Given the description of an element on the screen output the (x, y) to click on. 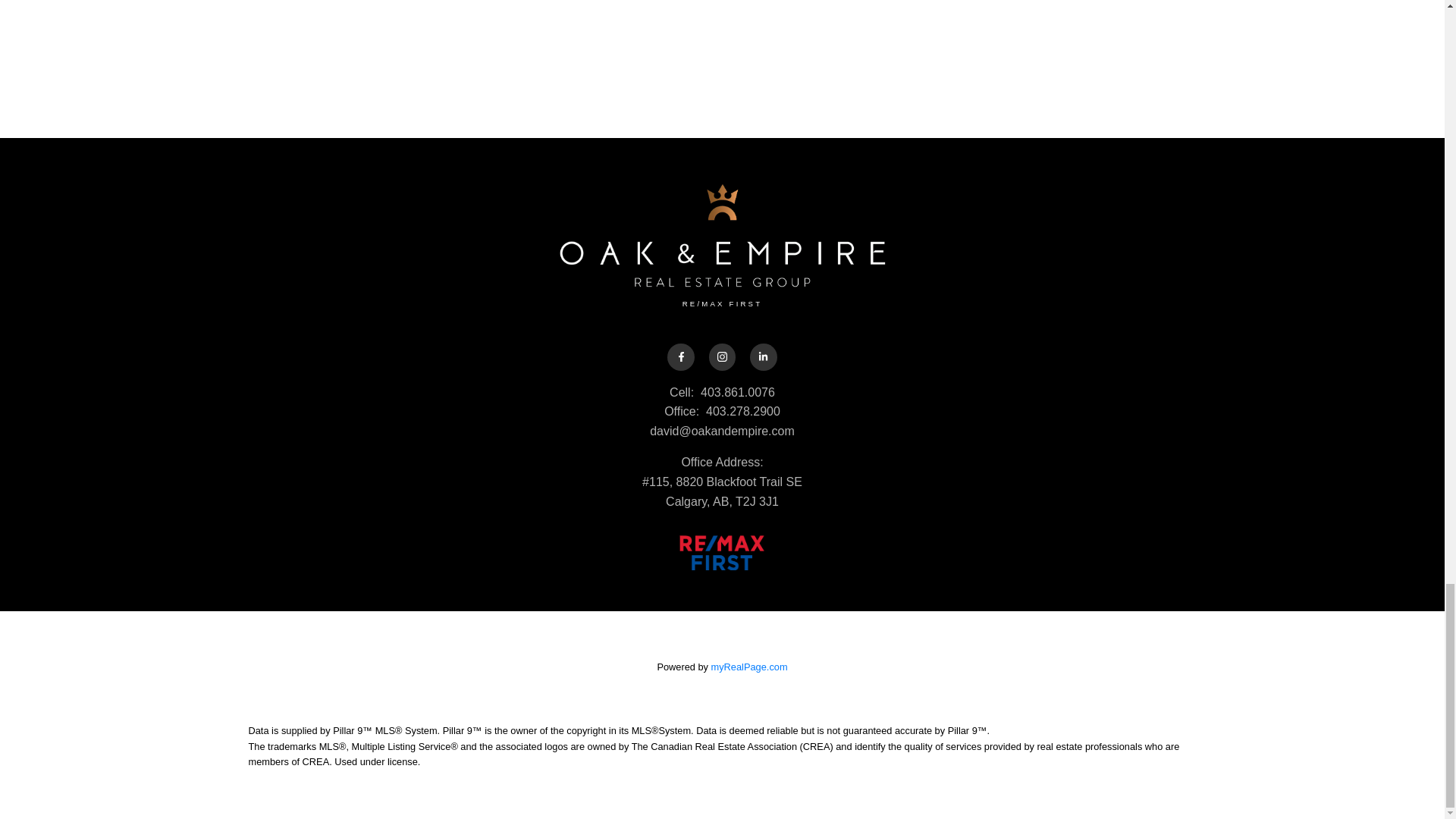
Office:  403.278.2900 (722, 411)
Cell:  403.861.0076 (722, 392)
myRealPage.com (749, 666)
